Given the description of an element on the screen output the (x, y) to click on. 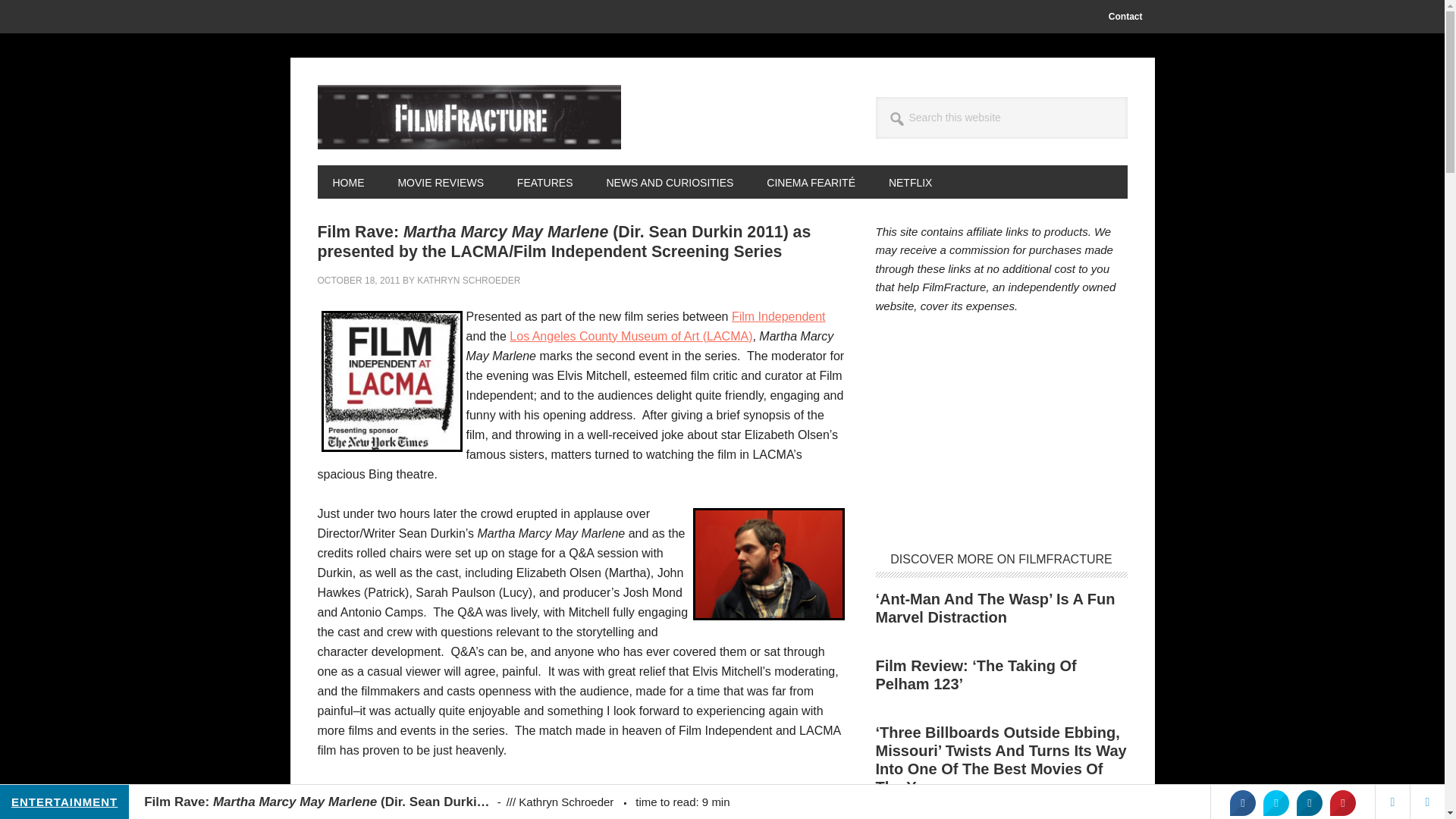
Share on Twitter (1275, 802)
FEATURES (545, 182)
Share on Facebook (1242, 802)
Film Independent (778, 315)
KATHRYN SCHROEDER (467, 280)
NETFLIX (910, 182)
NEWS AND CURIOSITIES (669, 182)
Share on Pinterest (1342, 802)
Advertisement (1000, 434)
HOME (347, 182)
Share on Linkedin (1309, 802)
MOVIE REVIEWS (440, 182)
